Given the description of an element on the screen output the (x, y) to click on. 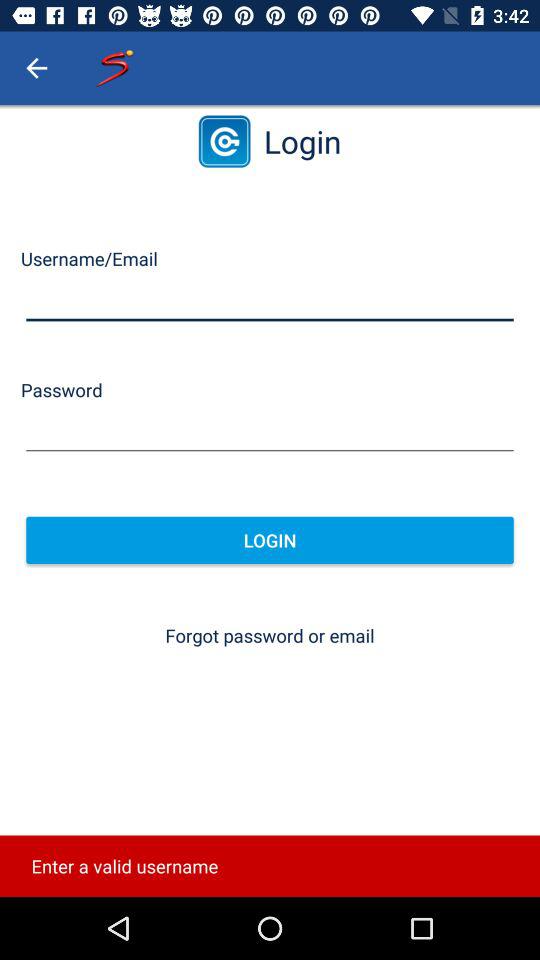
jump until the forgot password or (269, 635)
